Given the description of an element on the screen output the (x, y) to click on. 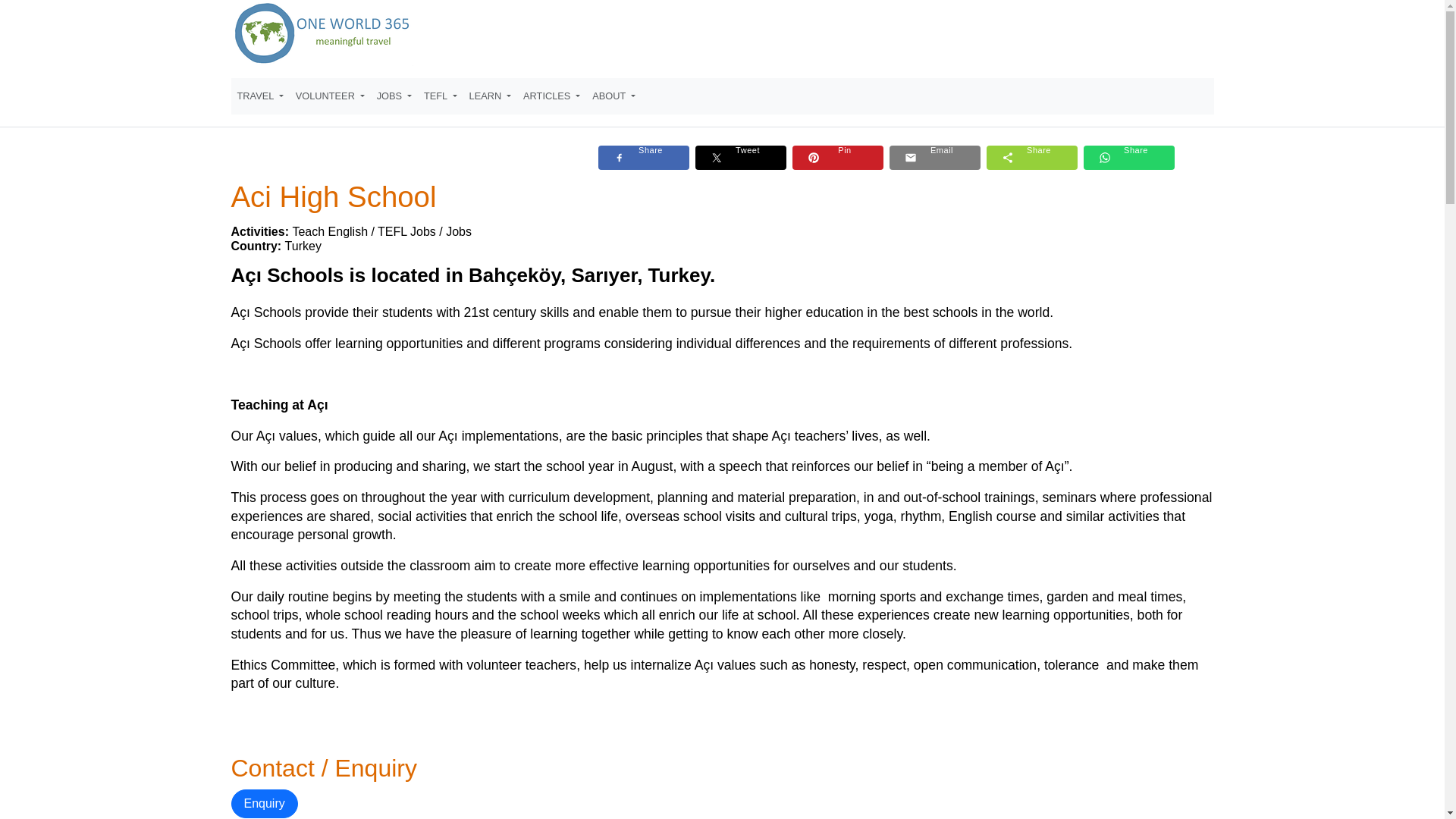
VOLUNTEER (330, 96)
TRAVEL (259, 96)
TEFL (440, 96)
JOBS (394, 96)
